Given the description of an element on the screen output the (x, y) to click on. 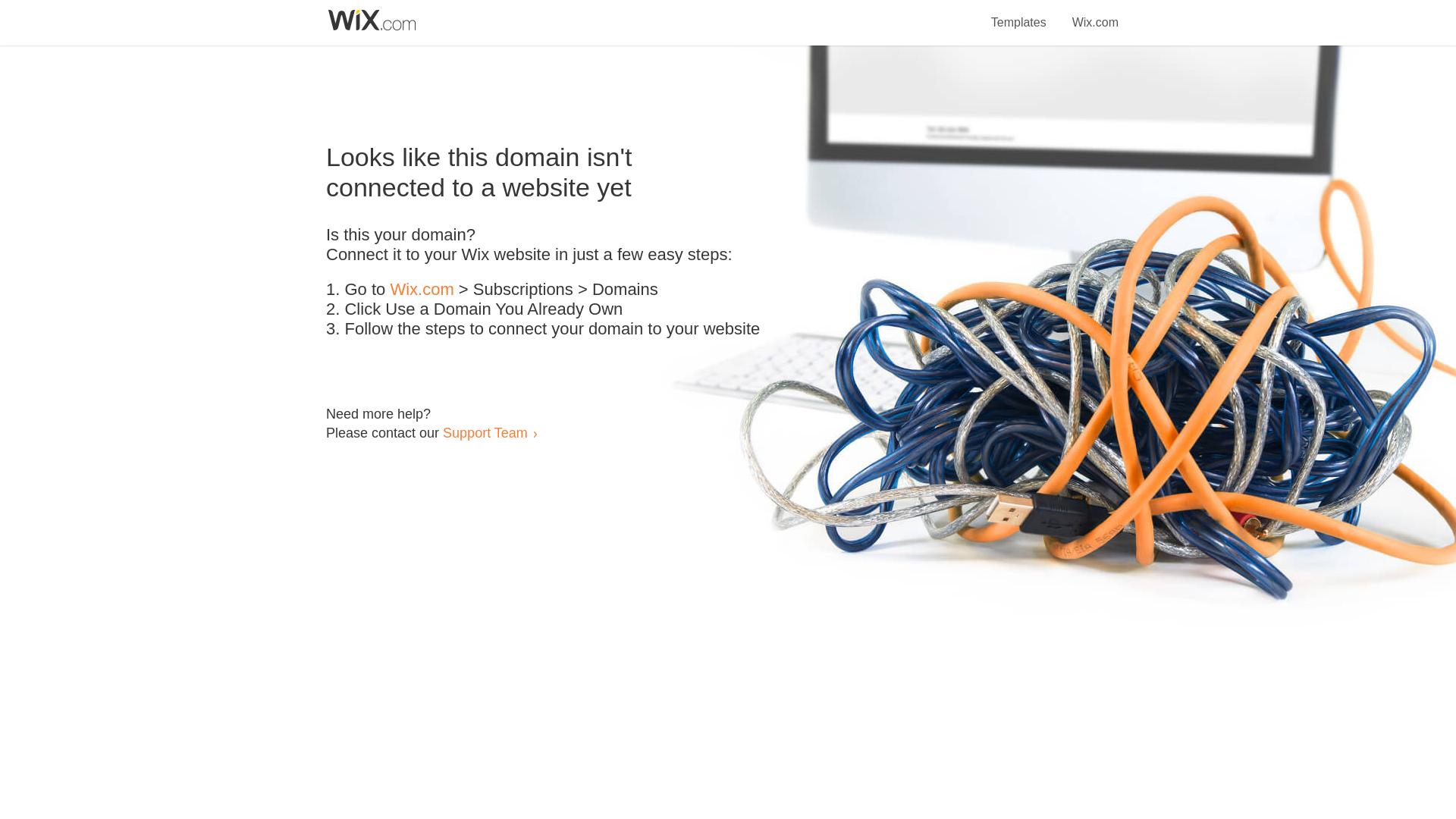
Templates (1018, 14)
Wix.com (421, 289)
Wix.com (1095, 14)
Support Team (484, 432)
